Given the description of an element on the screen output the (x, y) to click on. 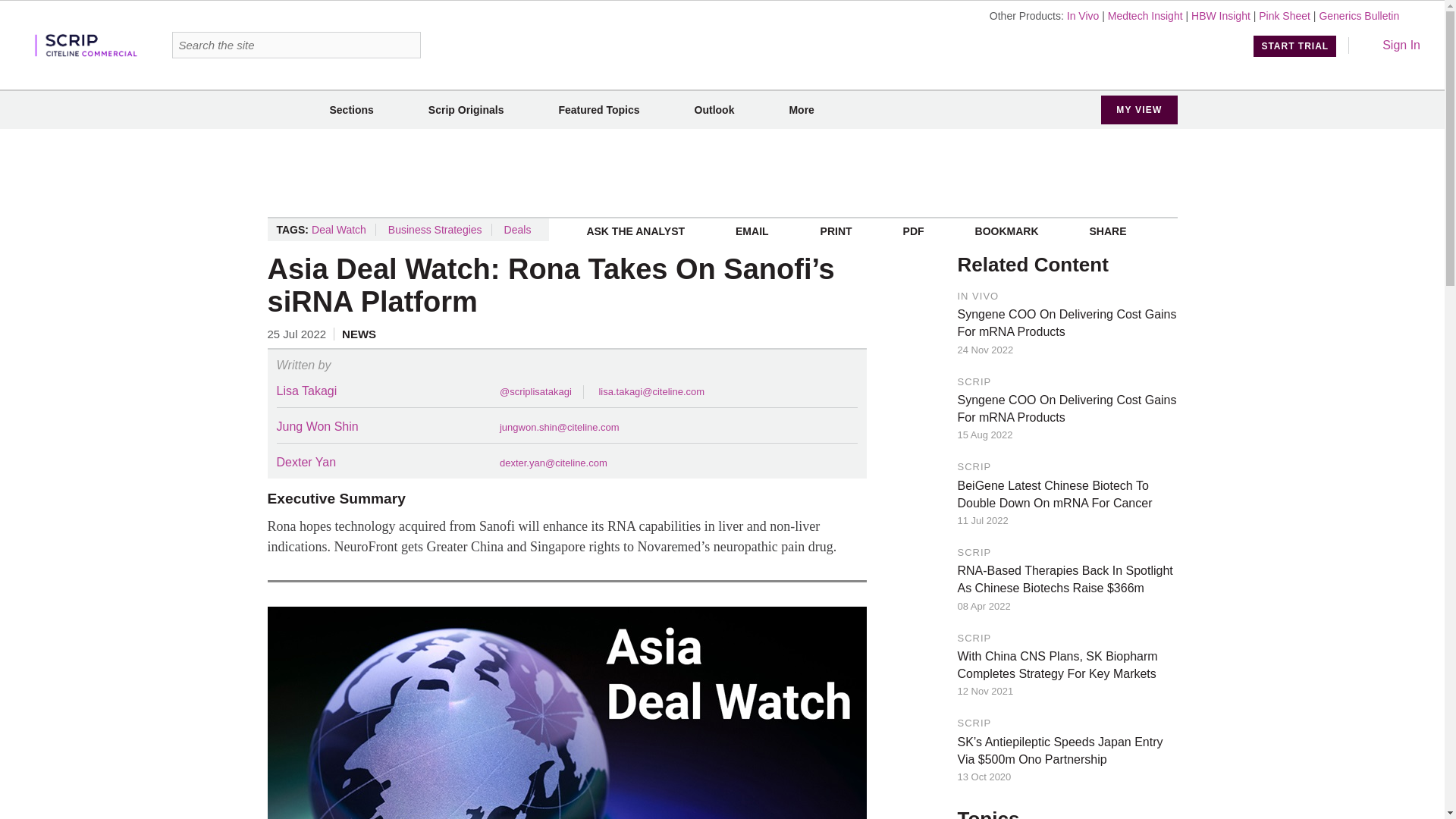
Sign In (1391, 44)
In Vivo (1083, 15)
Pink Sheet (1284, 15)
Medtech Insight (1145, 15)
Generics Bulletin (1359, 15)
3rd party ad content (721, 172)
START TRIAL (1294, 46)
HBW Insight (1220, 15)
